Given the description of an element on the screen output the (x, y) to click on. 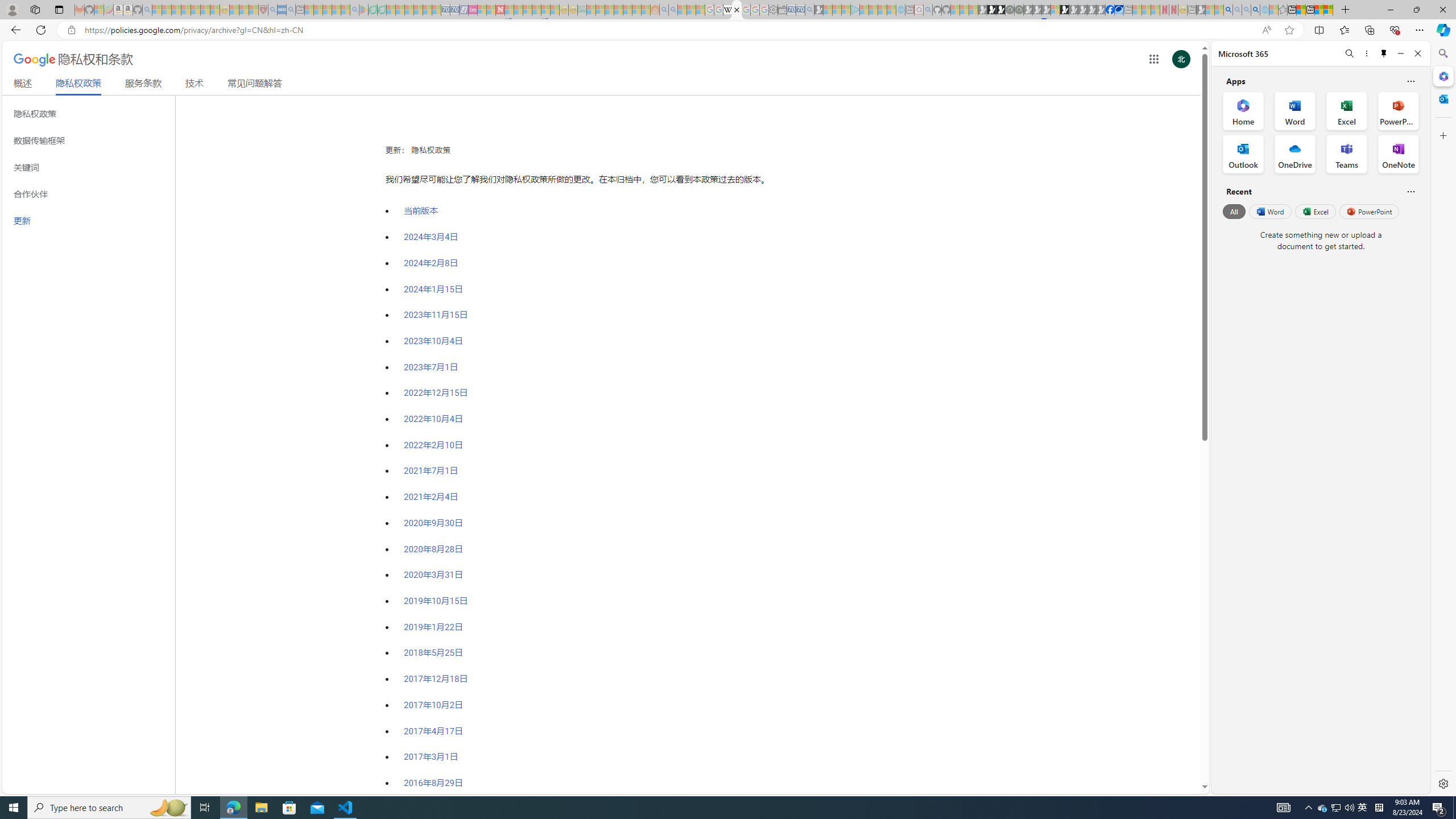
Excel Office App (1346, 110)
Microsoft-Report a Concern to Bing - Sleeping (98, 9)
Microsoft Start Gaming - Sleeping (818, 9)
Settings - Sleeping (773, 9)
Google Chrome Internet Browser Download - Search Images (1255, 9)
